Given the description of an element on the screen output the (x, y) to click on. 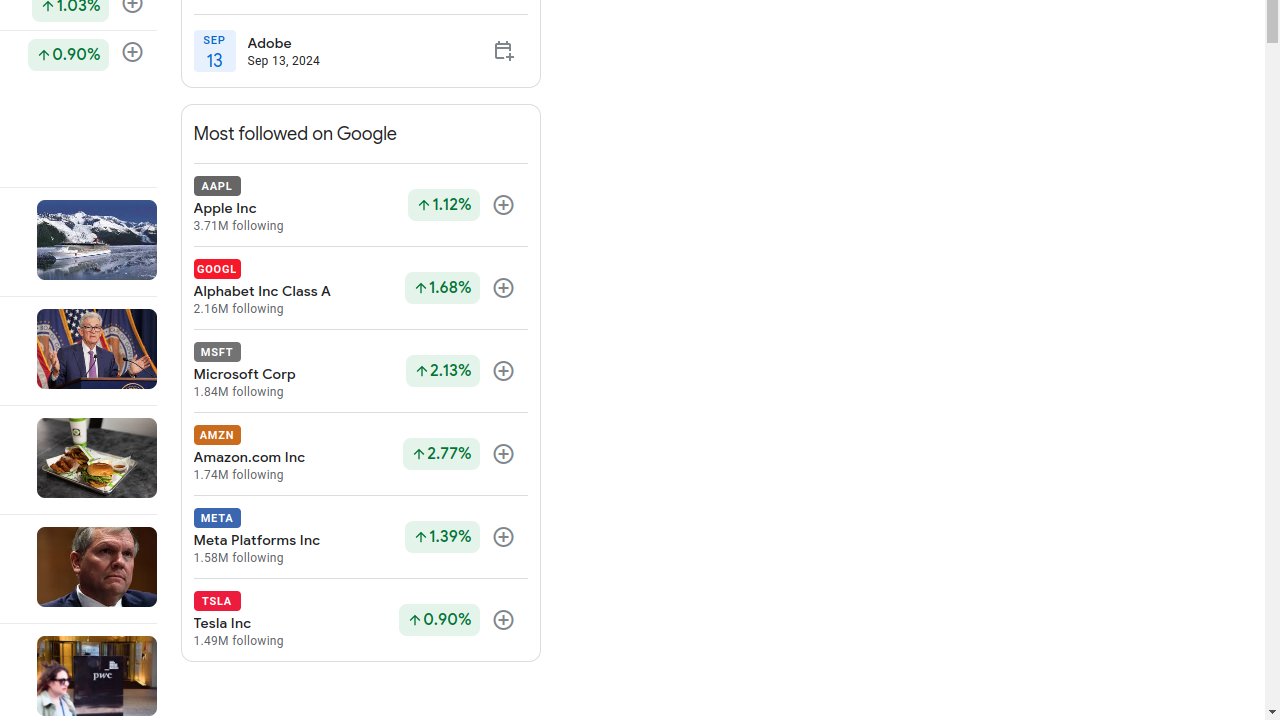
Adobe Element type: link (284, 43)
MSFT Microsoft Corp 1.84M following Up by 2.13% Follow Element type: link (360, 371)
META Meta Platforms Inc 1.58M following Up by 1.39% Follow Element type: link (360, 537)
GOOGL Alphabet Inc Class A 2.16M following Up by 1.68% Follow Element type: link (360, 288)
TSLA Tesla Inc 1.49M following Up by 0.90% Follow Element type: link (360, 620)
